Given the description of an element on the screen output the (x, y) to click on. 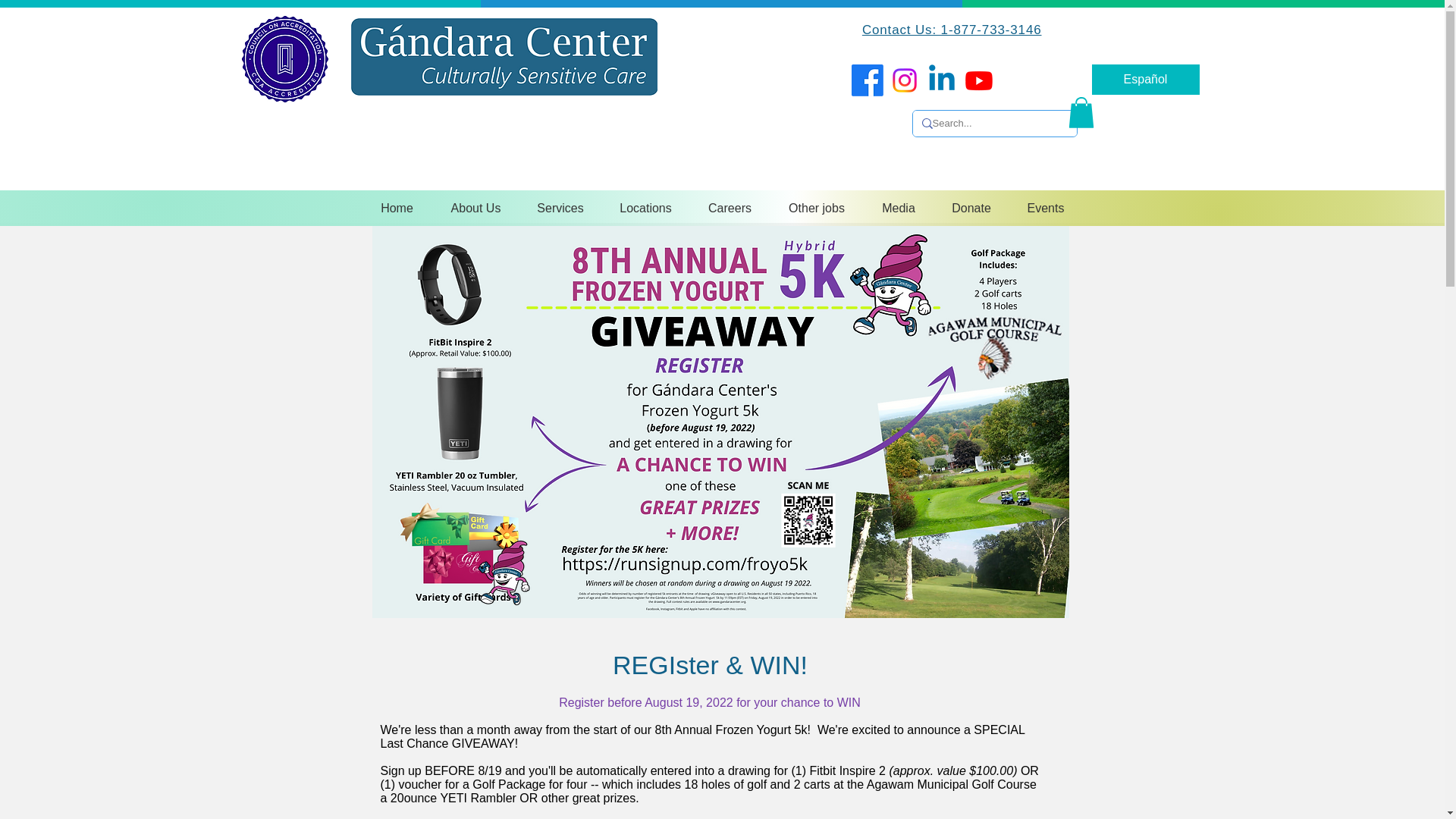
Contact Us: 1-877-733-3146 (951, 29)
About Us (475, 207)
Donate (971, 207)
Other jobs (815, 207)
Locations (644, 207)
Careers (729, 207)
Media (898, 207)
Services (560, 207)
Home (397, 207)
